Given the description of an element on the screen output the (x, y) to click on. 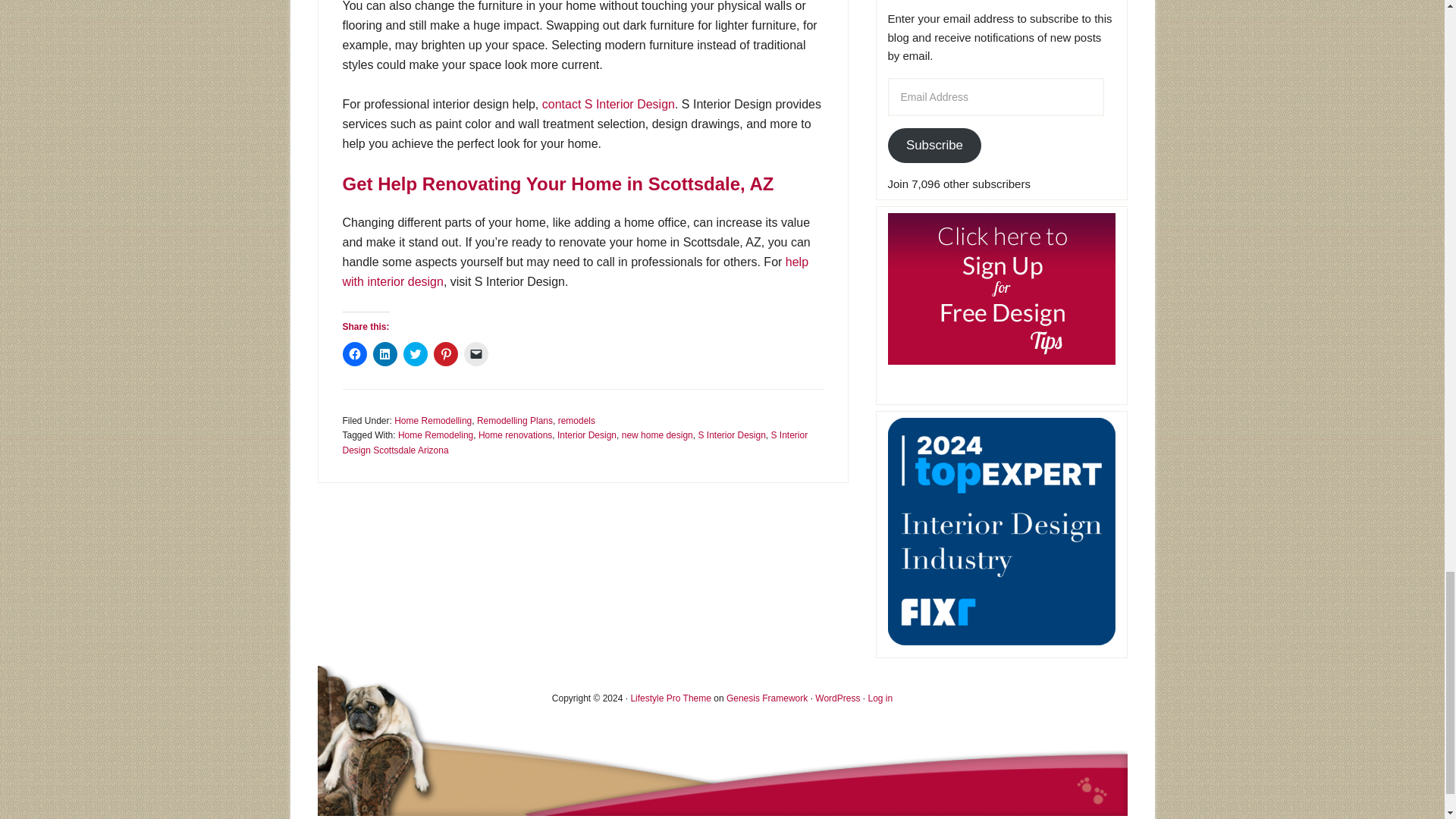
Click to email a link to a friend (475, 354)
Interior Design (586, 434)
Click to share on LinkedIn (384, 354)
Click to share on Pinterest (445, 354)
new home design (657, 434)
S Interior Design (731, 434)
contact S Interior Design (608, 103)
Home Remodeling (435, 434)
Remodelling Plans (515, 420)
Home Remodelling (432, 420)
Click to share on Twitter (415, 354)
S Interior Design Scottsdale Arizona (575, 442)
Home renovations (515, 434)
remodels (576, 420)
Click to share on Facebook (354, 354)
